Given the description of an element on the screen output the (x, y) to click on. 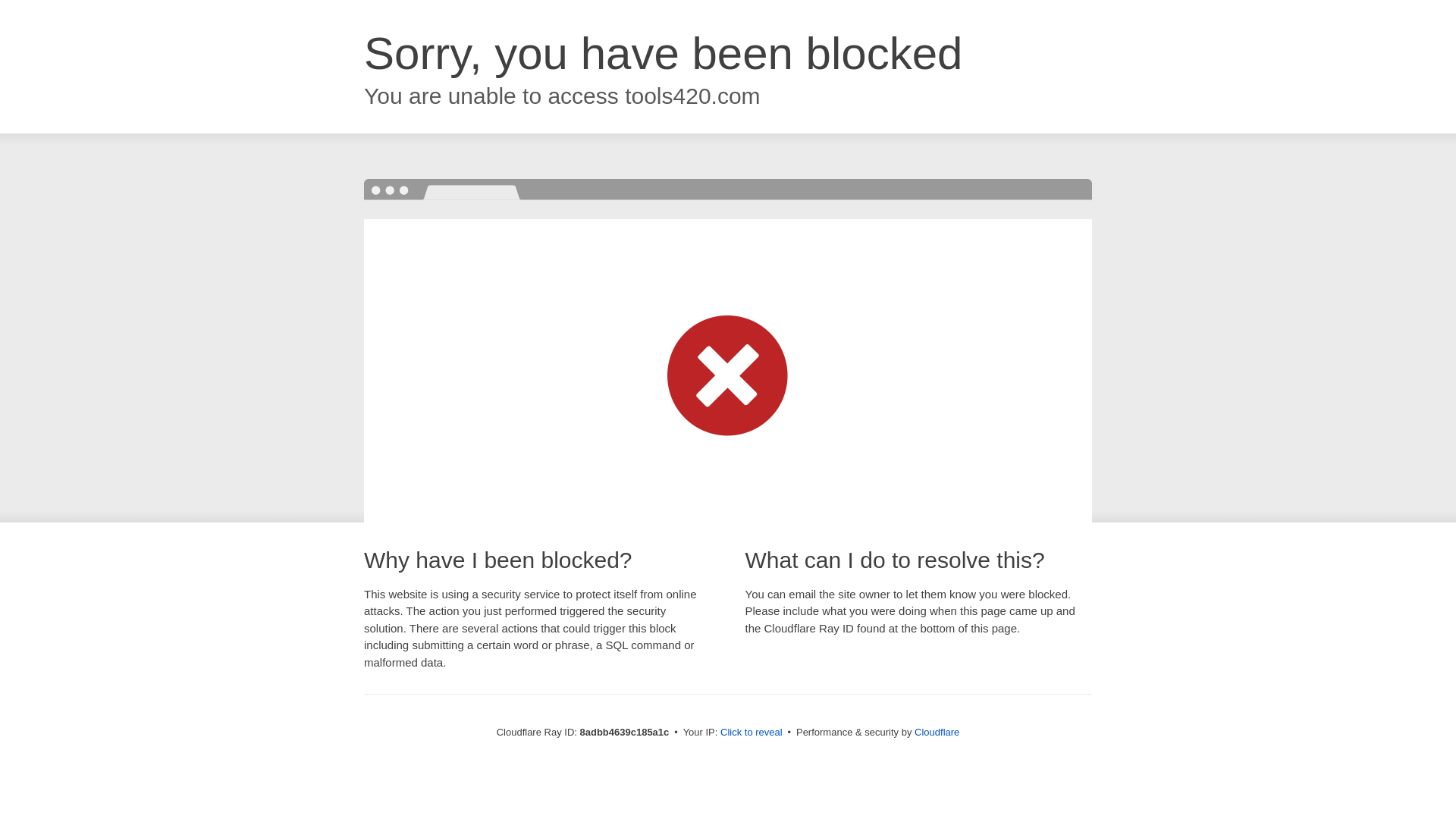
Cloudflare (936, 731)
Click to reveal (751, 732)
